Given the description of an element on the screen output the (x, y) to click on. 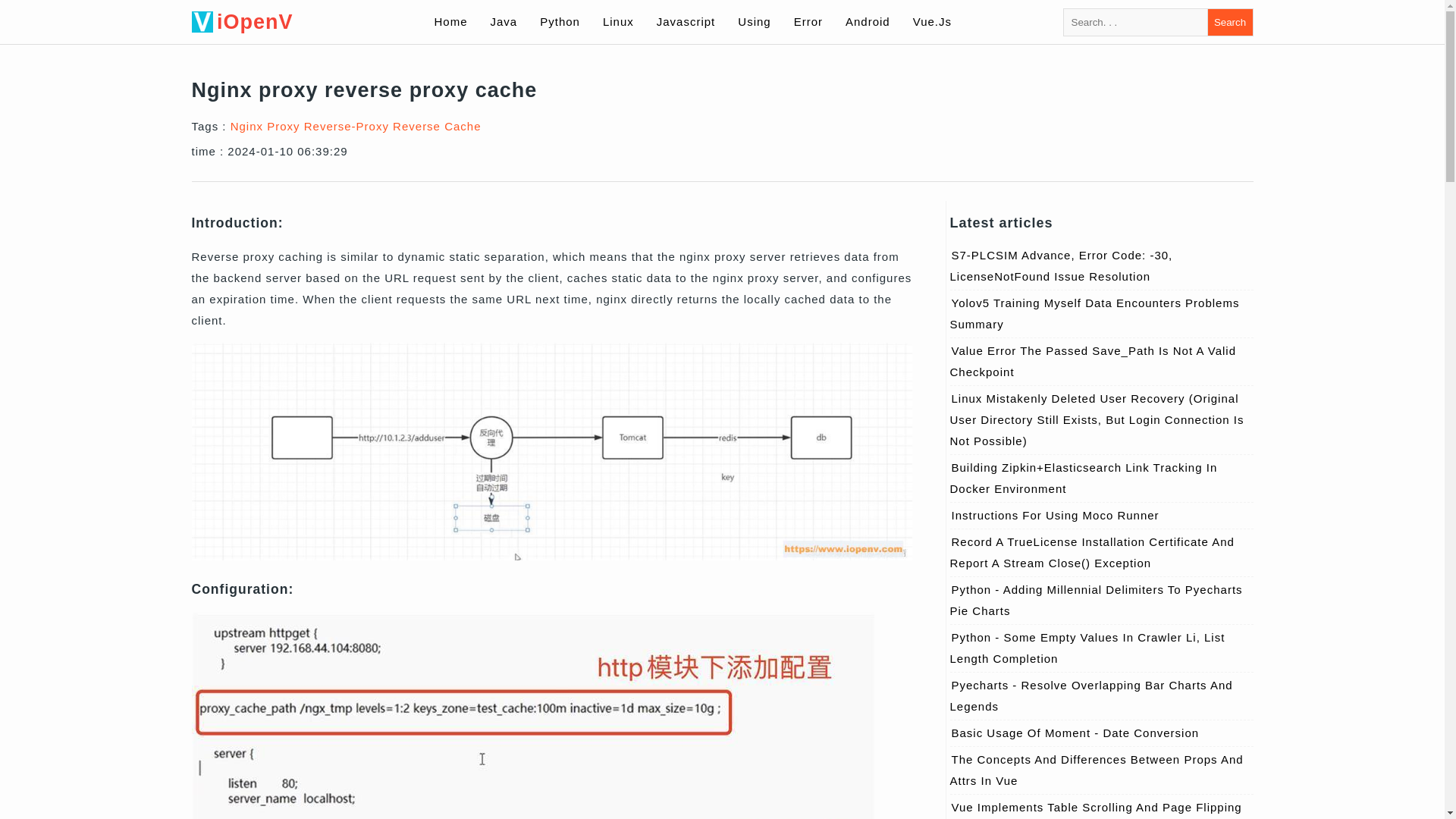
Instructions For Using Moco Runner (1053, 514)
Error (808, 21)
Using (753, 21)
Android (867, 21)
Linux (618, 21)
Python (559, 21)
 iOpenV (298, 21)
Search (1229, 21)
Nginx (246, 125)
